Given the description of an element on the screen output the (x, y) to click on. 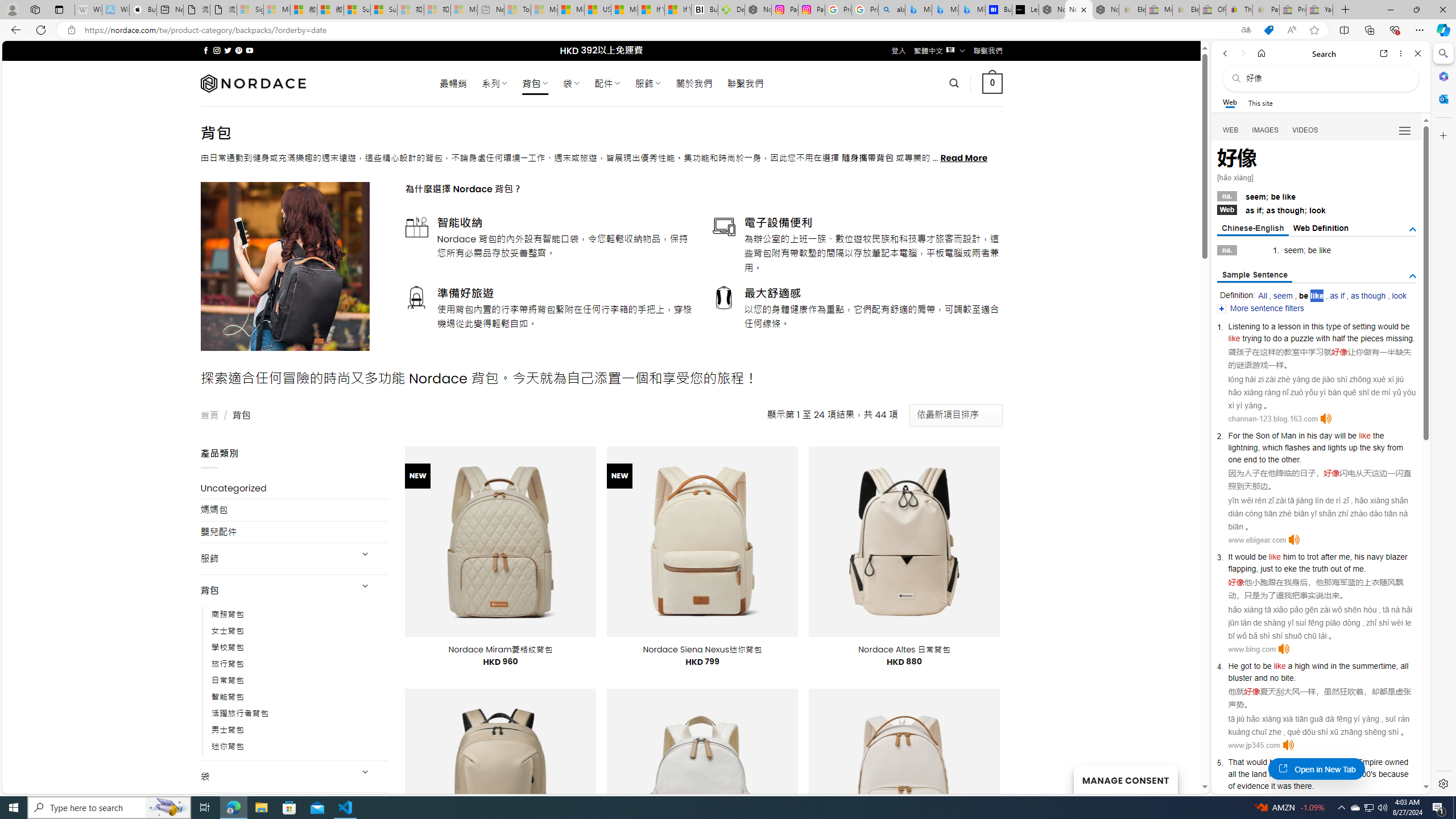
channan-123.blog.163.com (1272, 418)
to (1300, 556)
me (1358, 568)
Threats and offensive language policy | eBay (1239, 9)
wind (1319, 665)
